Given the description of an element on the screen output the (x, y) to click on. 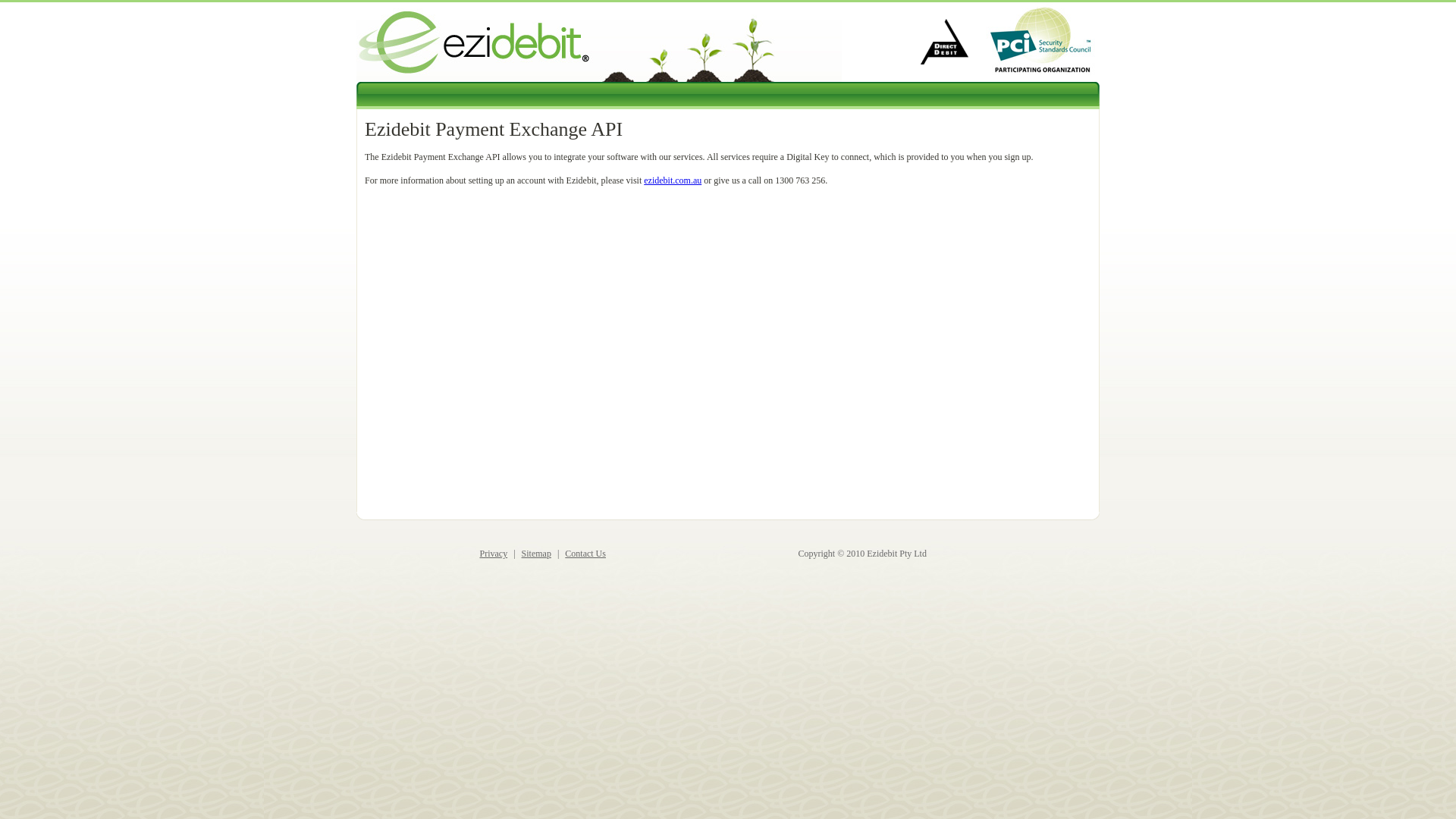
Privacy Element type: text (493, 553)
ezidebit.com.au Element type: text (672, 180)
Contact Us Element type: text (584, 553)
Sitemap Element type: text (536, 553)
